Given the description of an element on the screen output the (x, y) to click on. 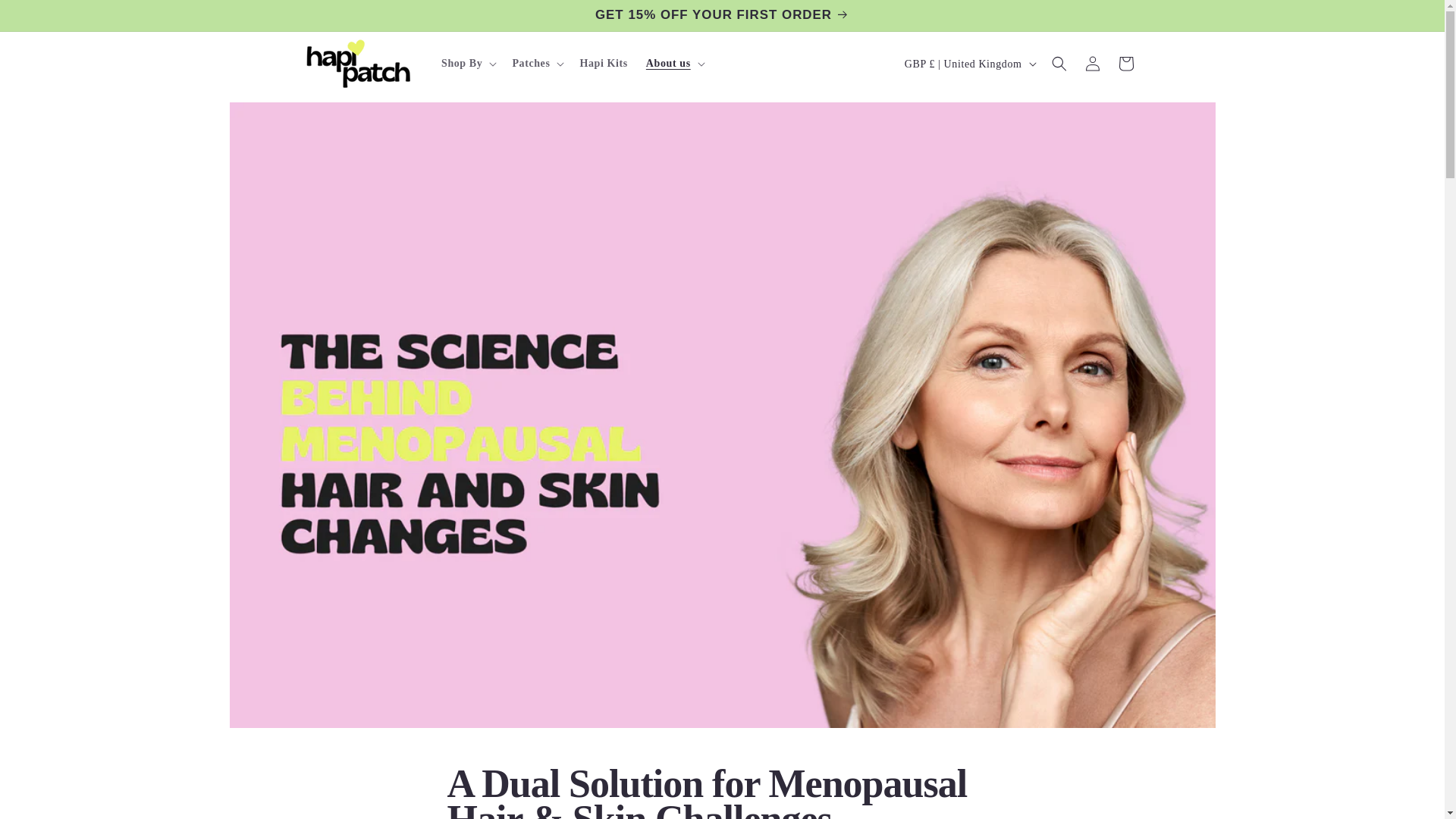
Skip to content (45, 17)
